Given the description of an element on the screen output the (x, y) to click on. 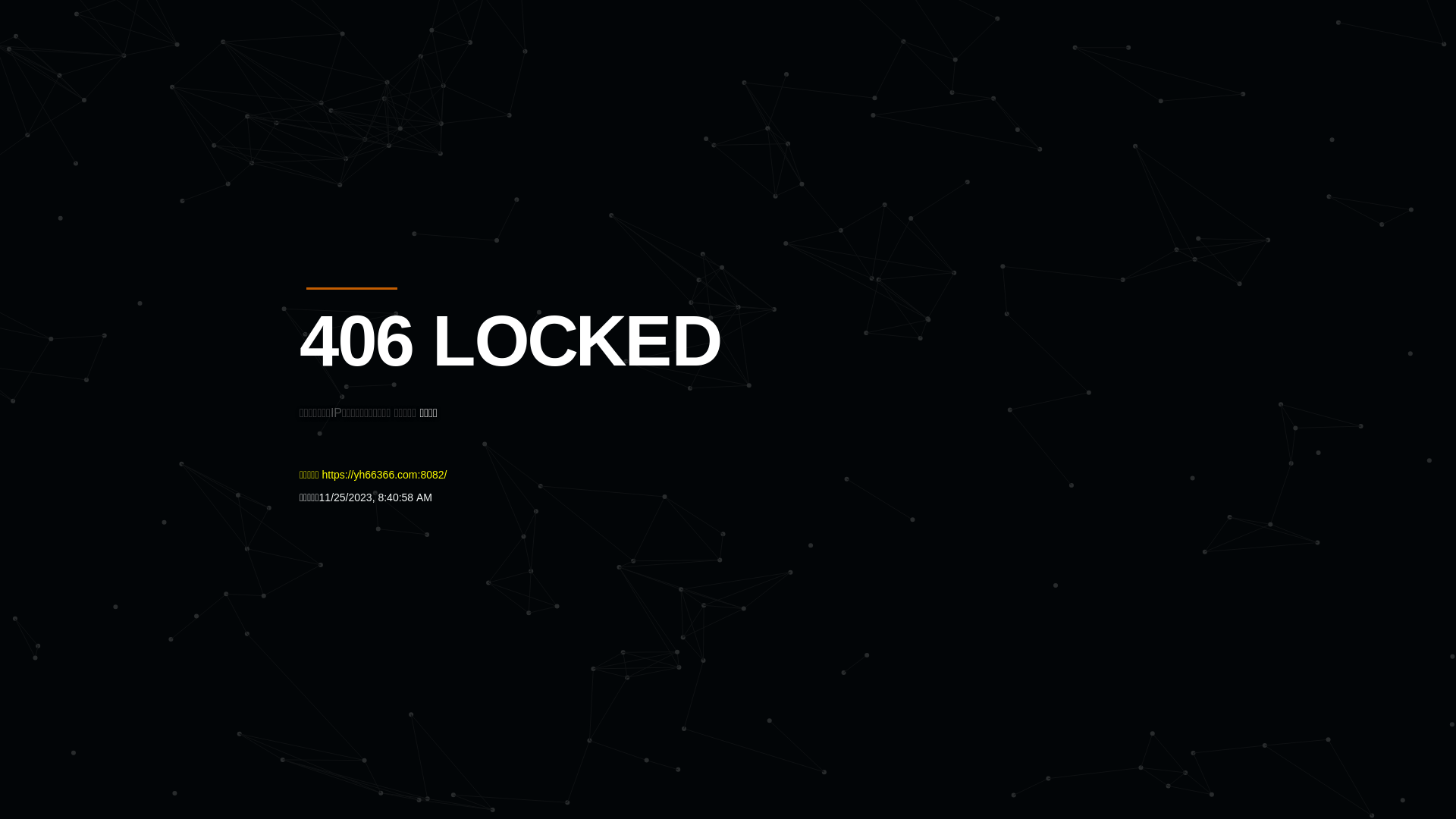
Quatro Element type: text (410, 86)
